Given the description of an element on the screen output the (x, y) to click on. 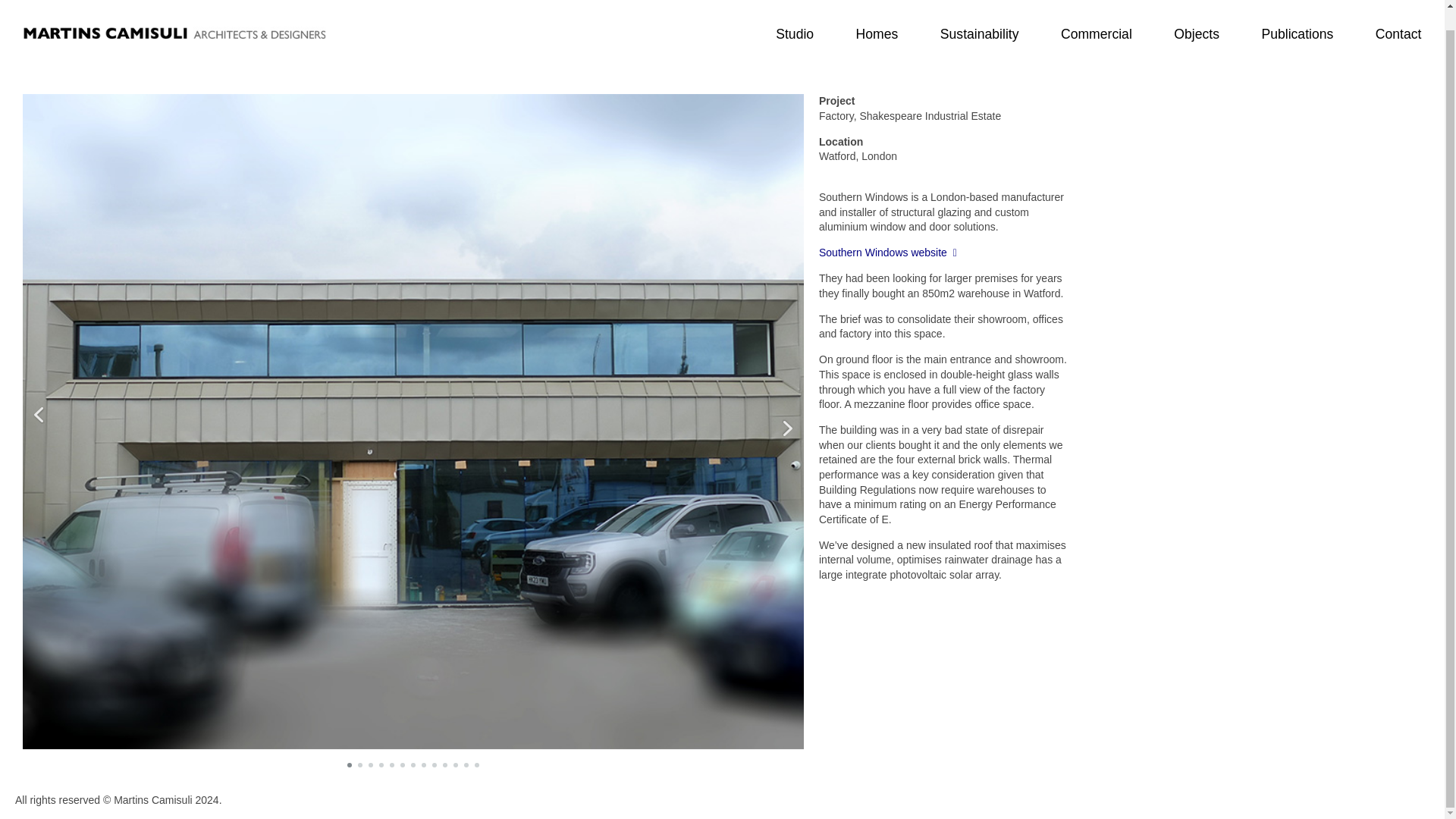
Sustainability (978, 14)
Southern Windows website   (887, 252)
Homes (876, 14)
Commercial (1096, 14)
Objects (1196, 14)
Publications (1296, 14)
Studio (795, 14)
